Given the description of an element on the screen output the (x, y) to click on. 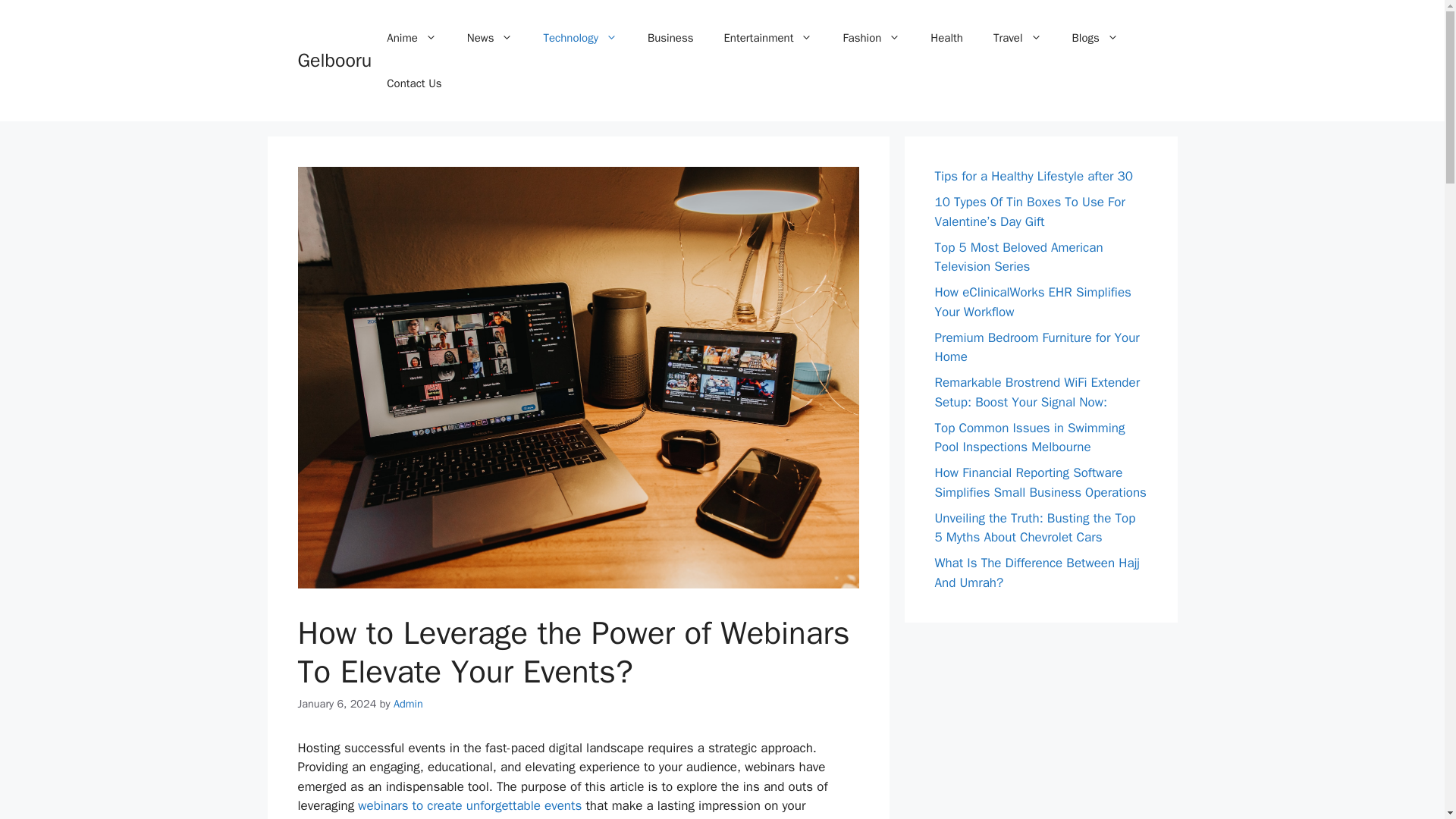
Travel (1017, 37)
Top 5 Most Beloved American Television Series (1018, 257)
Technology (579, 37)
Admin (408, 703)
Top Common Issues in Swimming Pool Inspections Melbourne (1029, 437)
webinars to create unforgettable events (469, 805)
Blogs (1095, 37)
Anime (411, 37)
Business (670, 37)
Contact Us (414, 83)
How eClinicalWorks EHR Simplifies Your Workflow (1032, 302)
Fashion (871, 37)
Tips for a Healthy Lifestyle after 30 (1033, 176)
Entertainment (767, 37)
Premium Bedroom Furniture for Your Home (1036, 346)
